Given the description of an element on the screen output the (x, y) to click on. 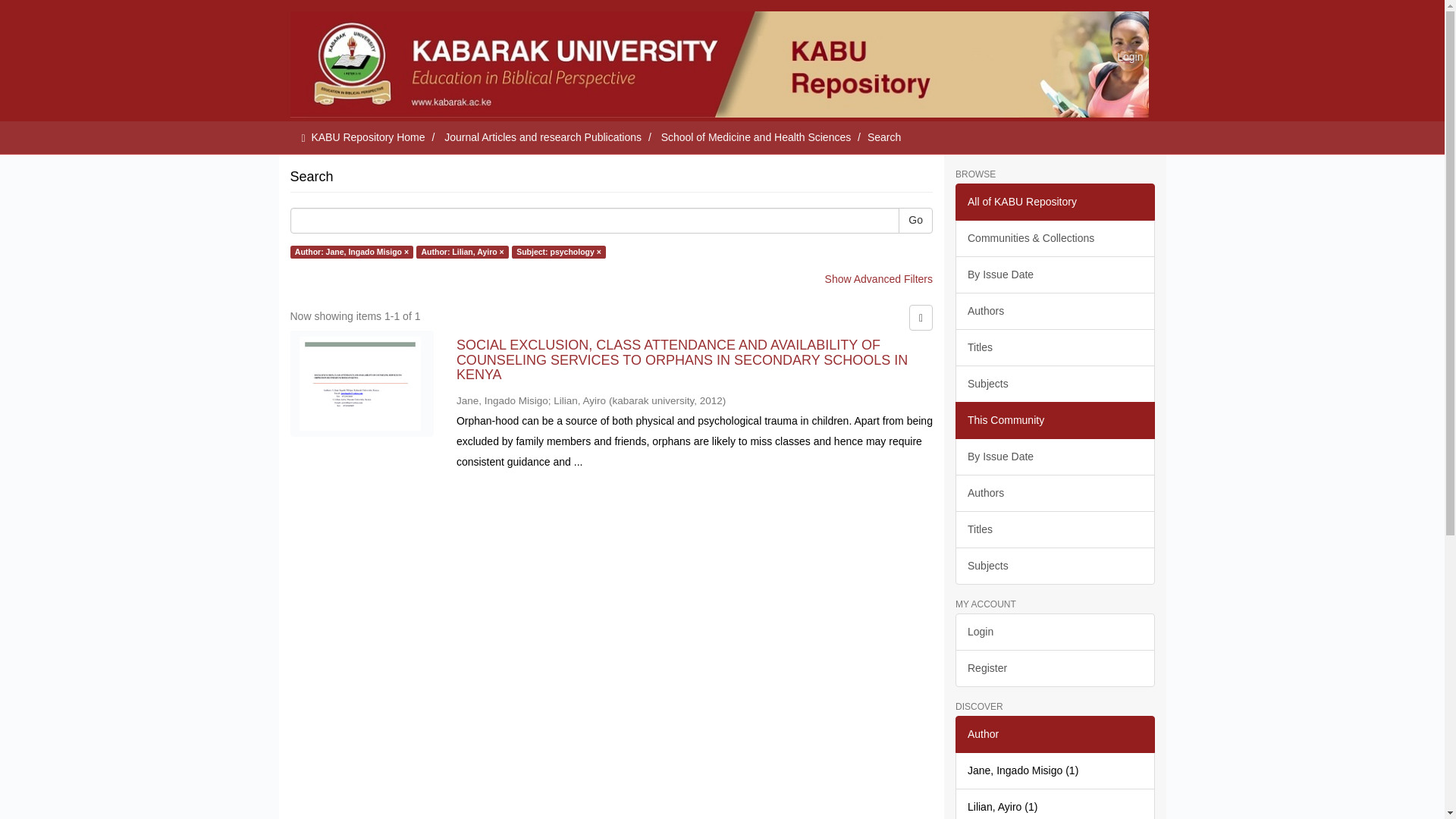
Login (1129, 56)
KABU Repository Home (368, 137)
Go (915, 220)
School of Medicine and Health Sciences (756, 137)
Journal Articles and research Publications (543, 137)
Show Advanced Filters (879, 278)
